Given the description of an element on the screen output the (x, y) to click on. 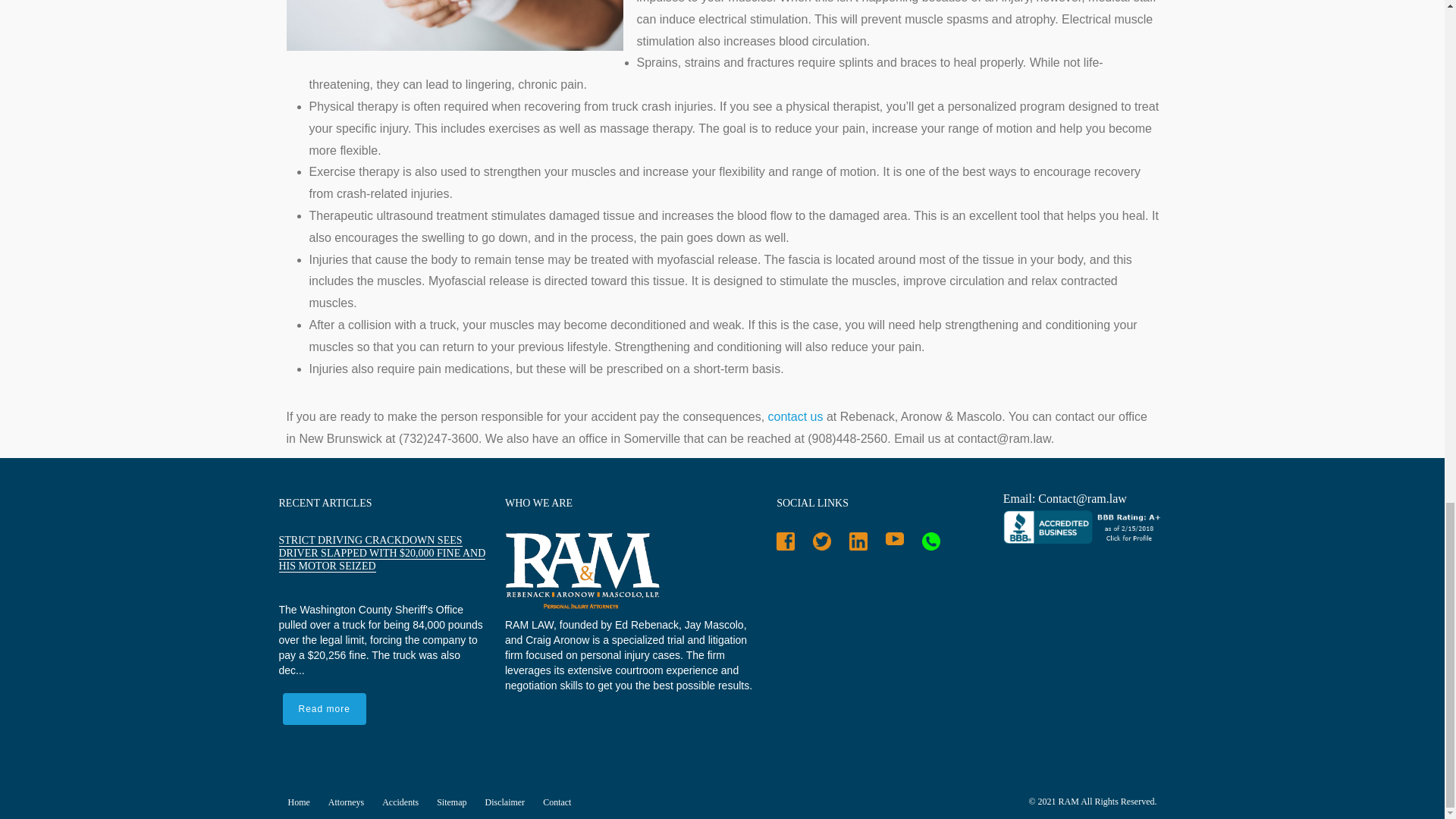
Attorneys (350, 802)
Home (303, 802)
Follow Us on LinkedIn (862, 544)
Read more (323, 708)
Follow Us on Phone (935, 544)
Follow Us on Twitter (826, 544)
Accidents (404, 802)
Follow Us on Facebook (789, 544)
Sitemap (456, 802)
Disclaimer (509, 802)
